Given the description of an element on the screen output the (x, y) to click on. 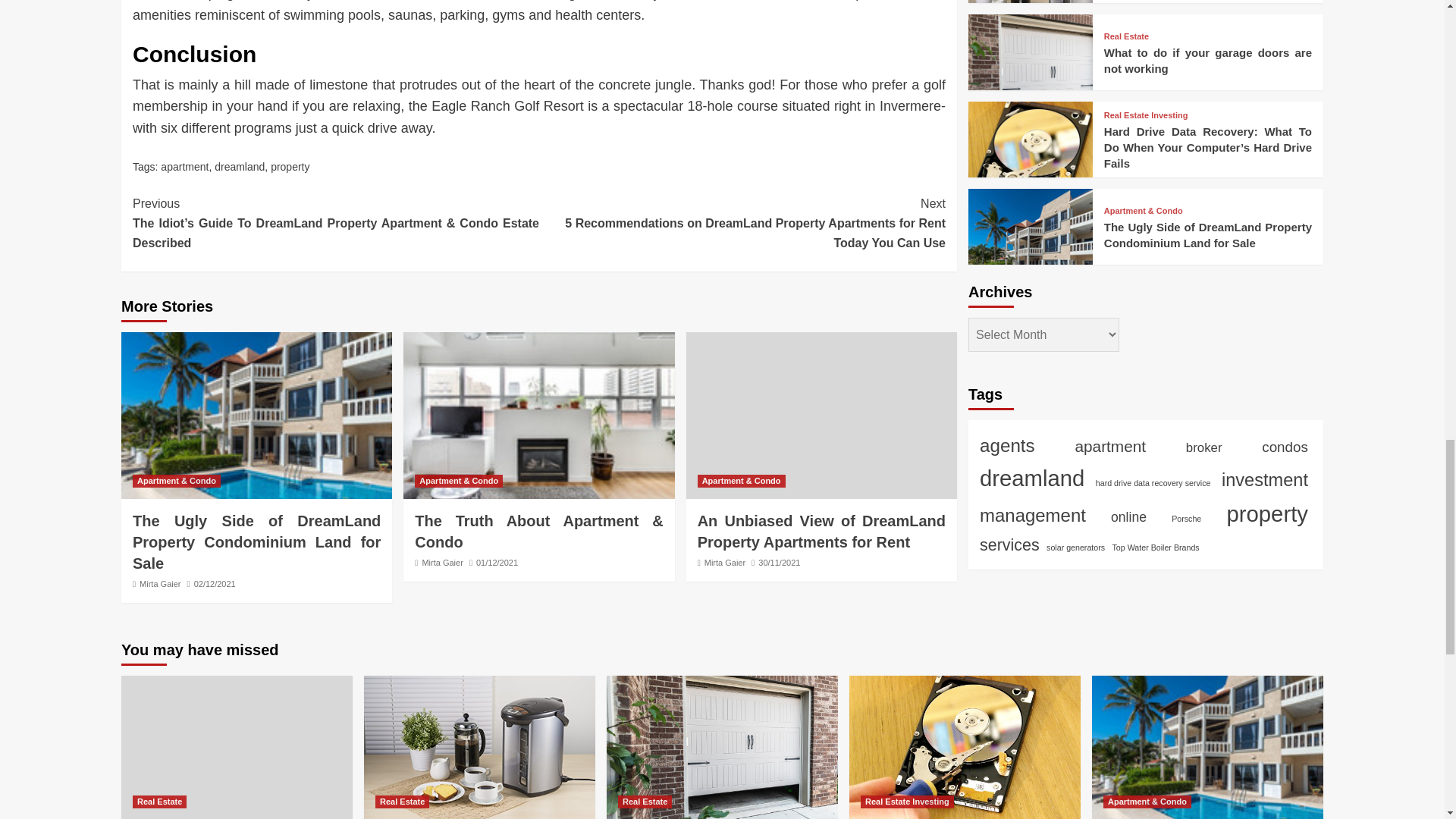
dreamland (239, 166)
apartment (184, 166)
An Unbiased View of DreamLand Property Apartments for Rent (820, 415)
Mirta Gaier (159, 583)
property (289, 166)
Mirta Gaier (442, 562)
